Given the description of an element on the screen output the (x, y) to click on. 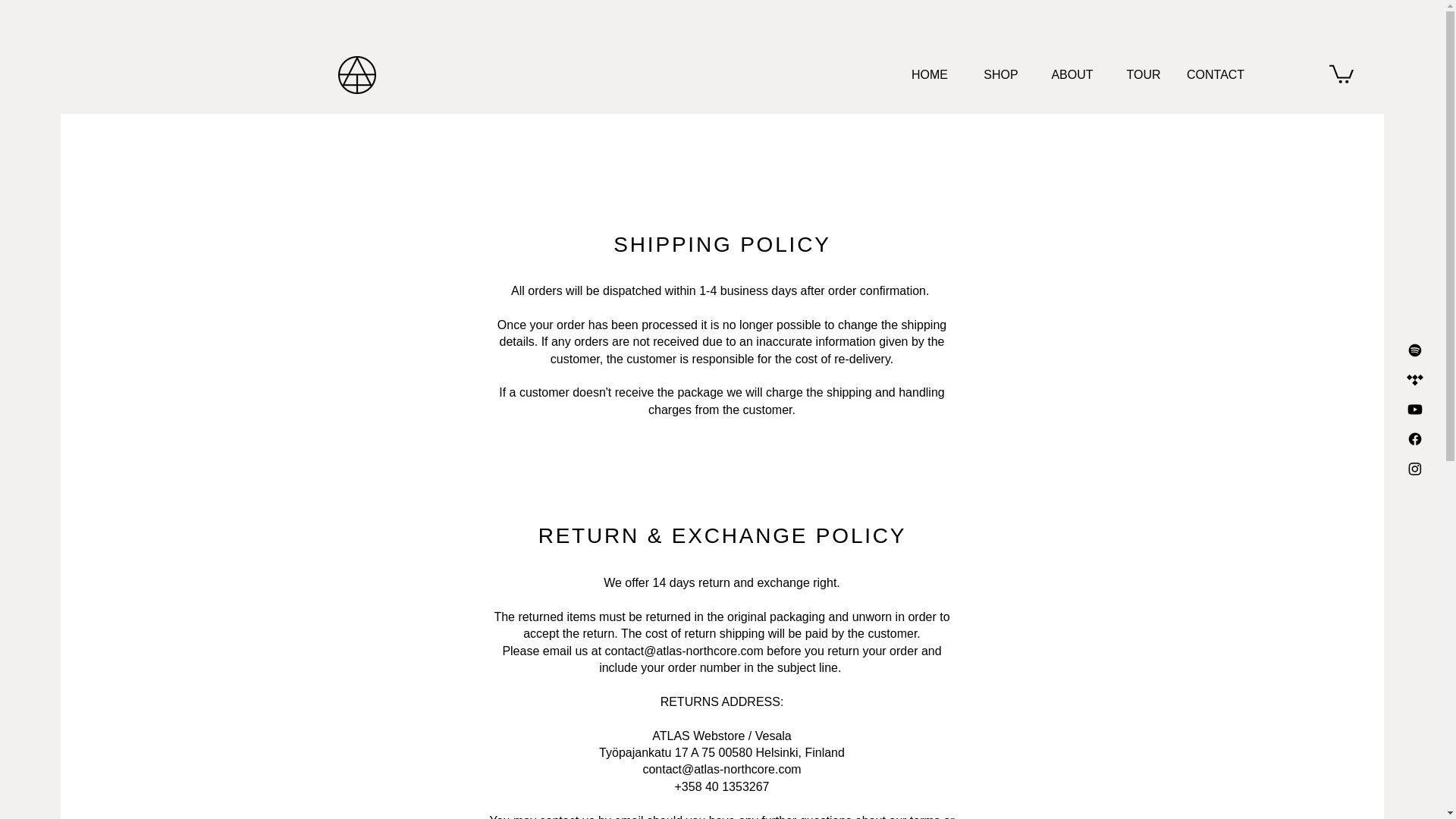
CONTACT (1214, 75)
TOUR (1143, 75)
ABOUT (1072, 75)
HOME (929, 75)
SHOP (1000, 75)
Asset 5EMBLEM BLACK.png (356, 75)
